Given the description of an element on the screen output the (x, y) to click on. 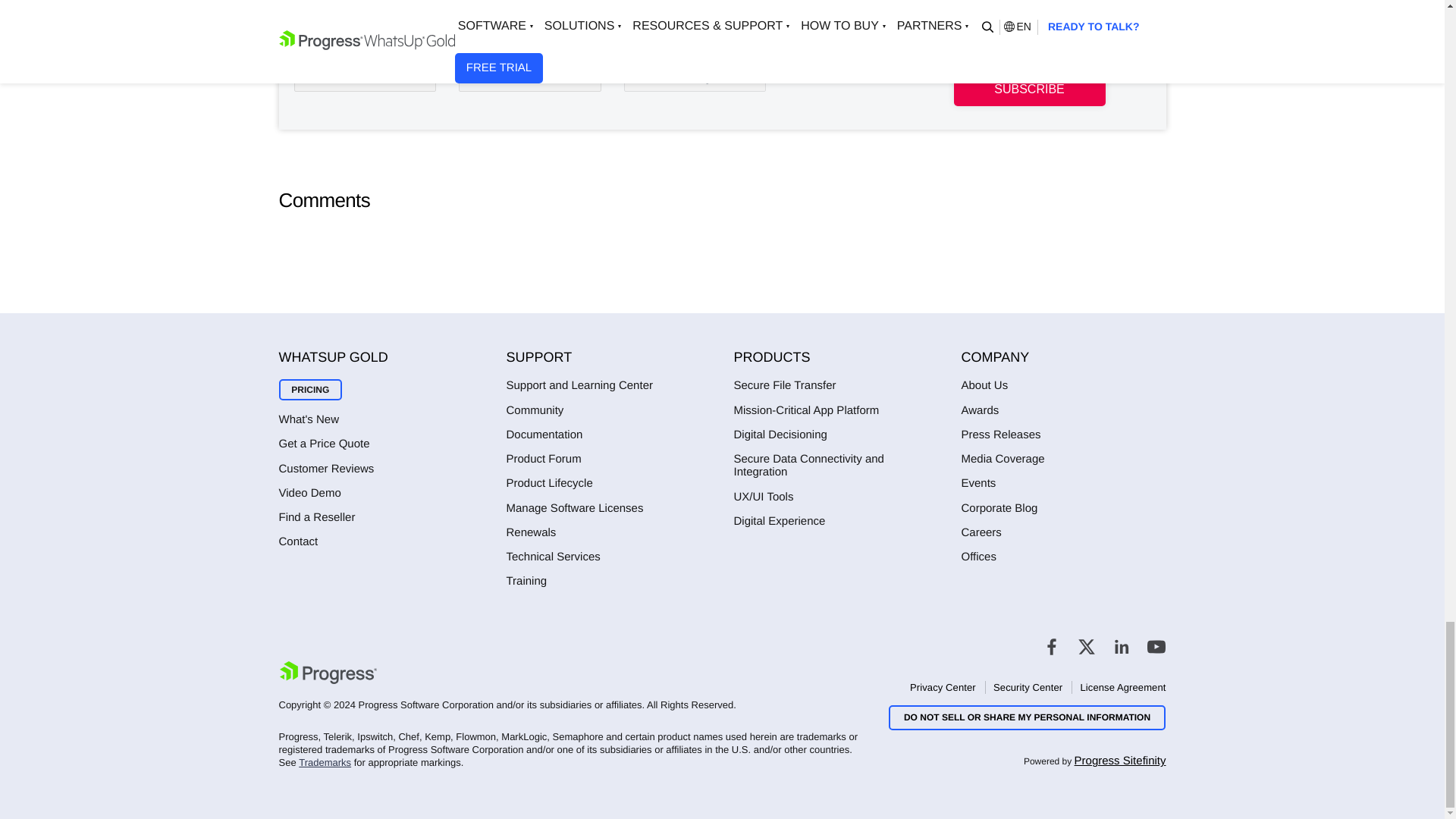
linkedin (1121, 647)
facebook (1051, 647)
youtube (1156, 647)
X (1086, 647)
